Given the description of an element on the screen output the (x, y) to click on. 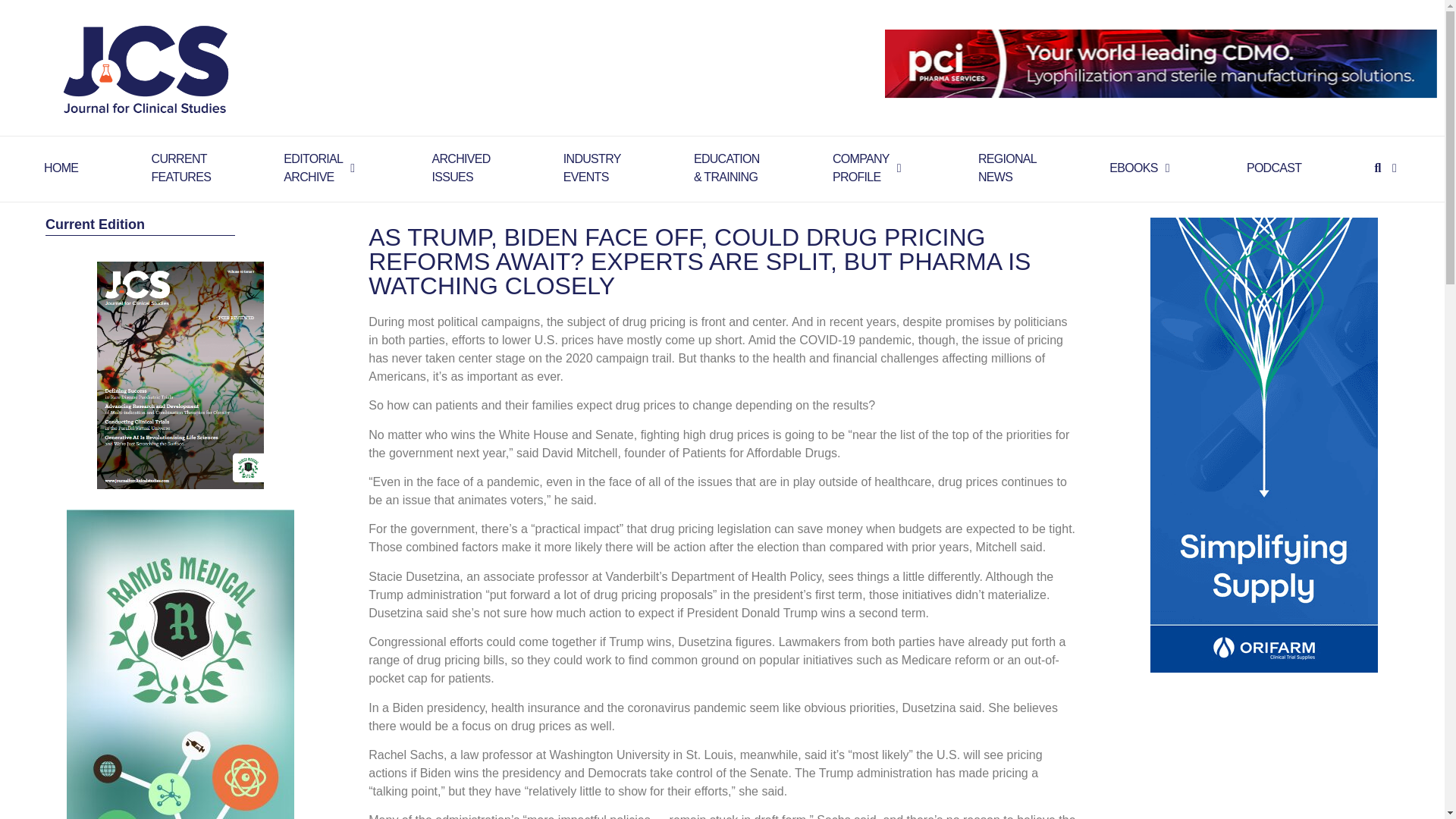
PODCAST (1007, 167)
HOME (860, 167)
